Given the description of an element on the screen output the (x, y) to click on. 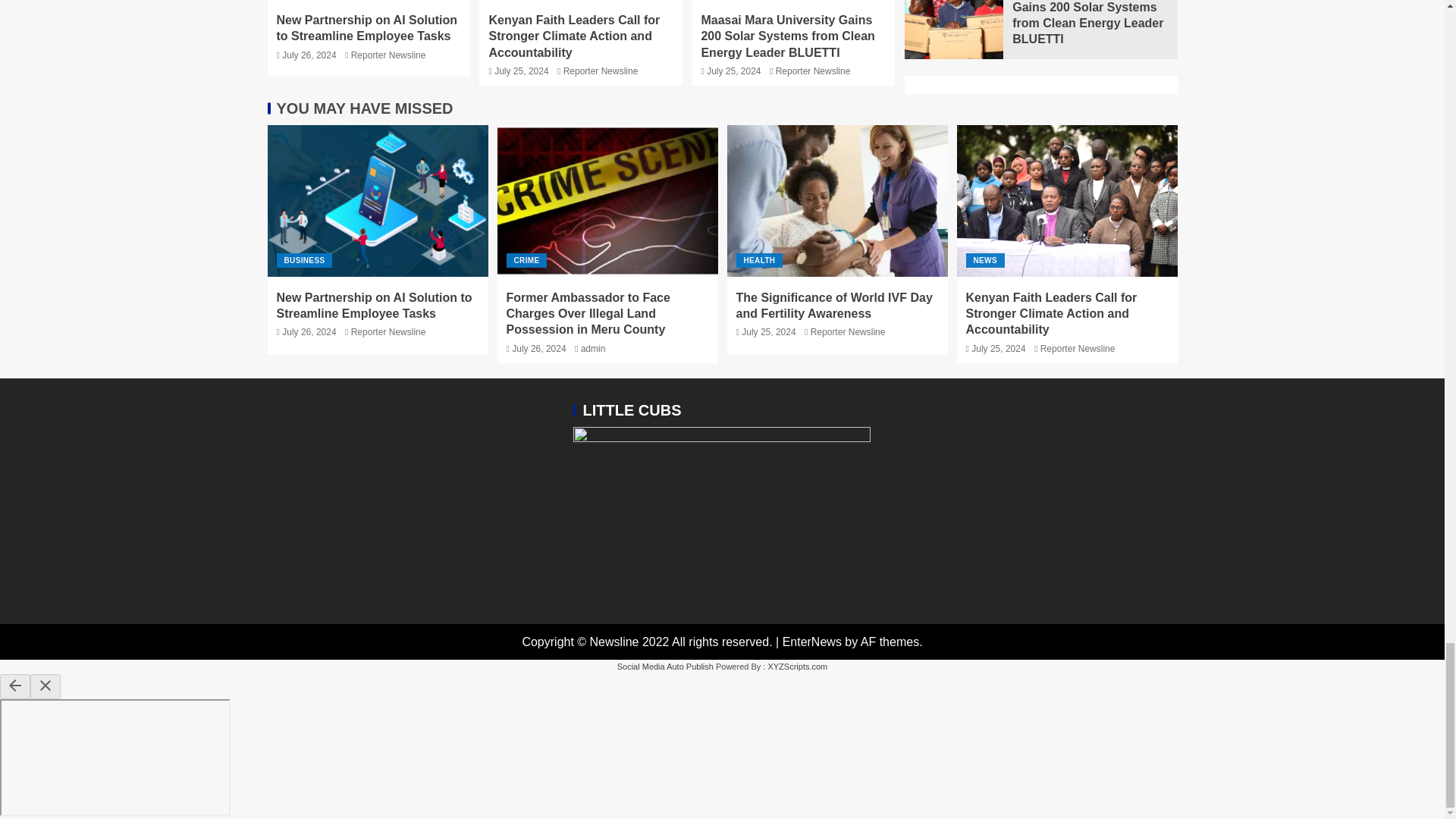
Social Media Auto Publish (665, 665)
